Given the description of an element on the screen output the (x, y) to click on. 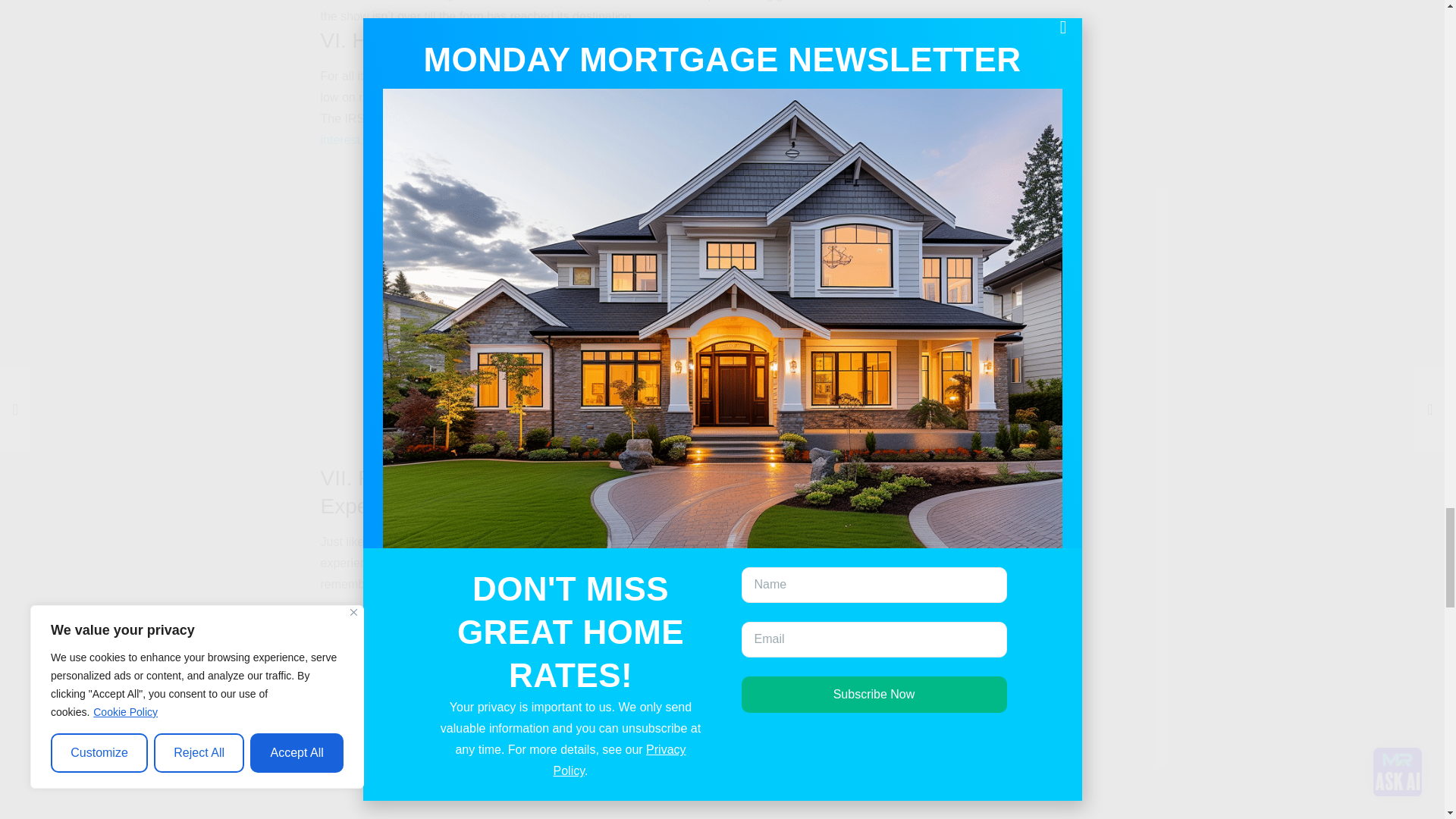
Schedule E (598, 782)
